Given the description of an element on the screen output the (x, y) to click on. 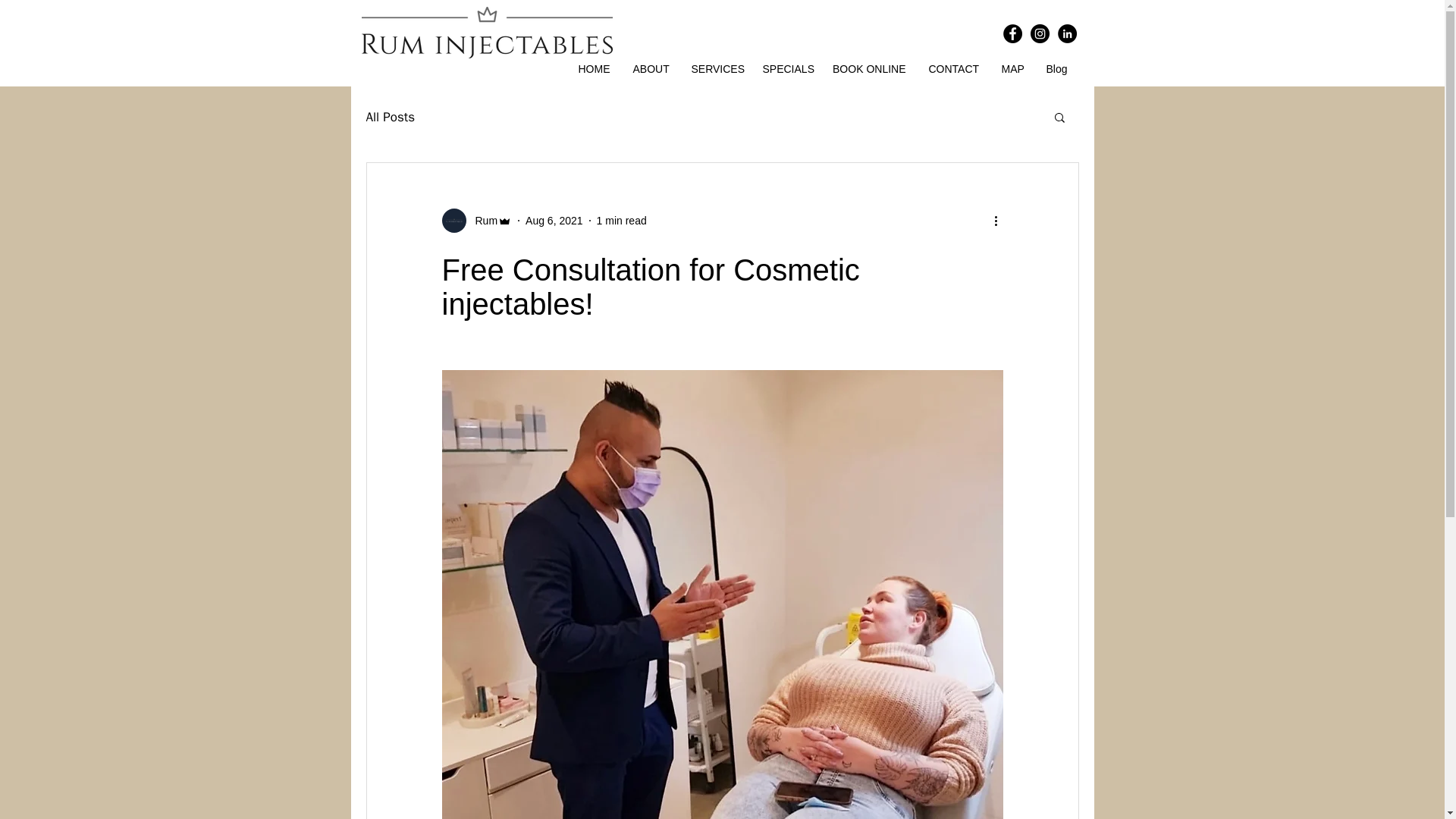
MAP (1012, 69)
ABOUT (650, 69)
Rum (476, 220)
HOME (593, 69)
SPECIALS (786, 69)
BOOK ONLINE (869, 69)
SERVICES (715, 69)
Blog (1054, 69)
All Posts (389, 116)
Aug 6, 2021 (554, 219)
CONTACT (953, 69)
1 min read (621, 219)
Rum (481, 220)
